Given the description of an element on the screen output the (x, y) to click on. 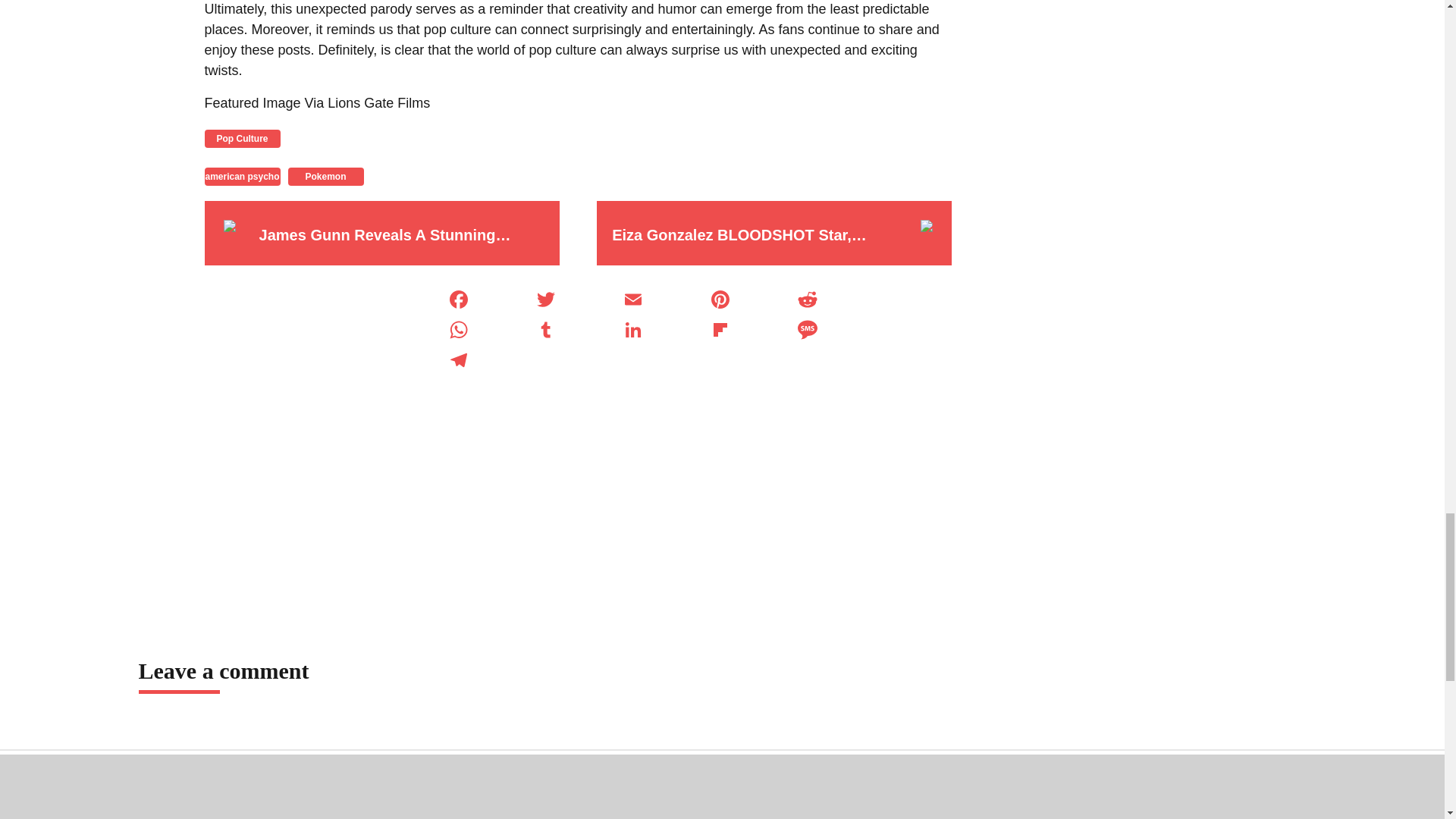
Tumblr (569, 332)
Flipboard (742, 332)
Facebook (481, 302)
Reddit (829, 302)
Email (655, 302)
Twitter (569, 302)
Pinterest (742, 302)
Message (829, 332)
Telegram (481, 363)
WhatsApp (481, 332)
LinkedIn (655, 332)
